Given the description of an element on the screen output the (x, y) to click on. 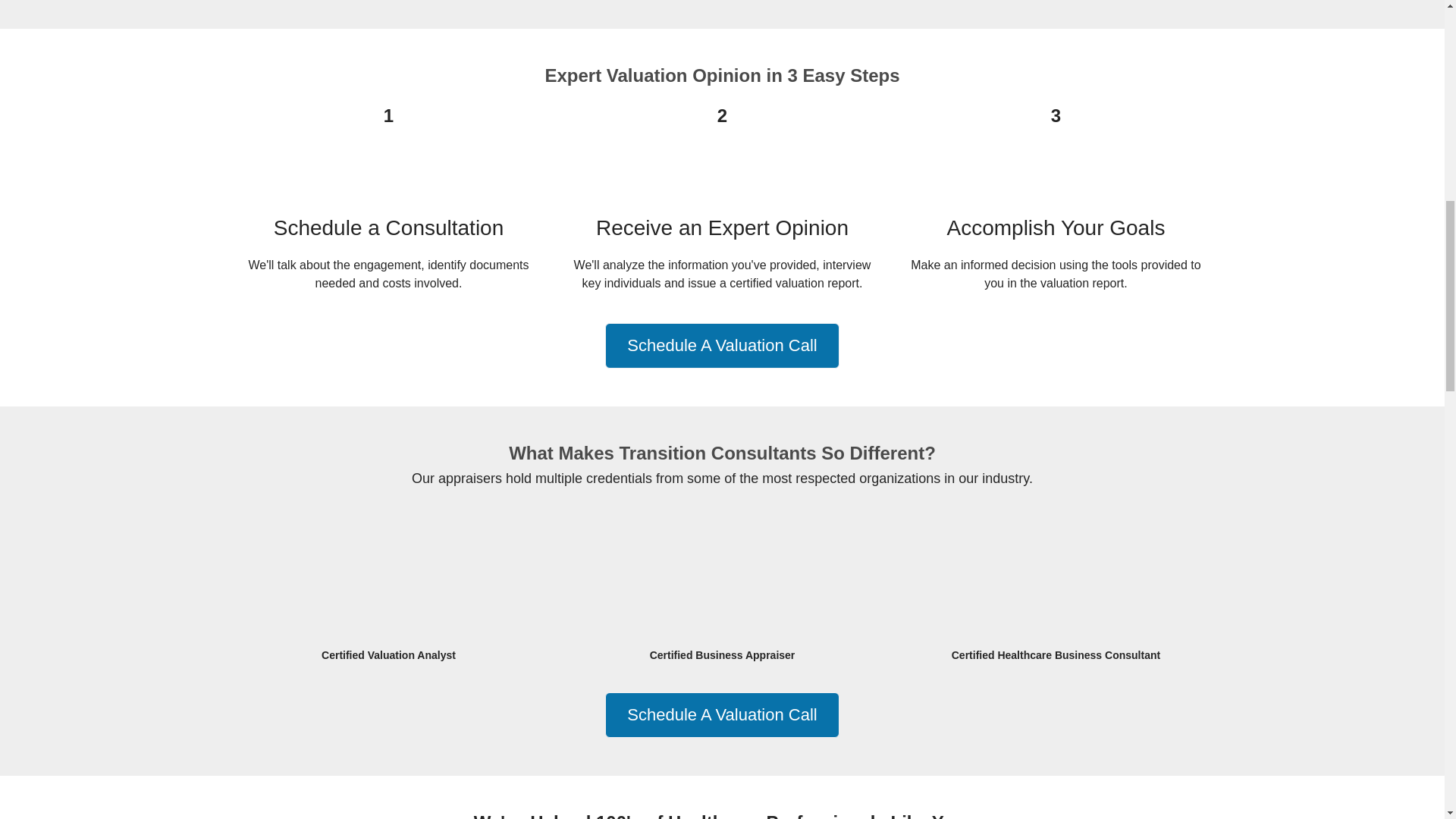
Schedule A Valuation Call (721, 345)
Schedule A Valuation Call (721, 714)
